Given the description of an element on the screen output the (x, y) to click on. 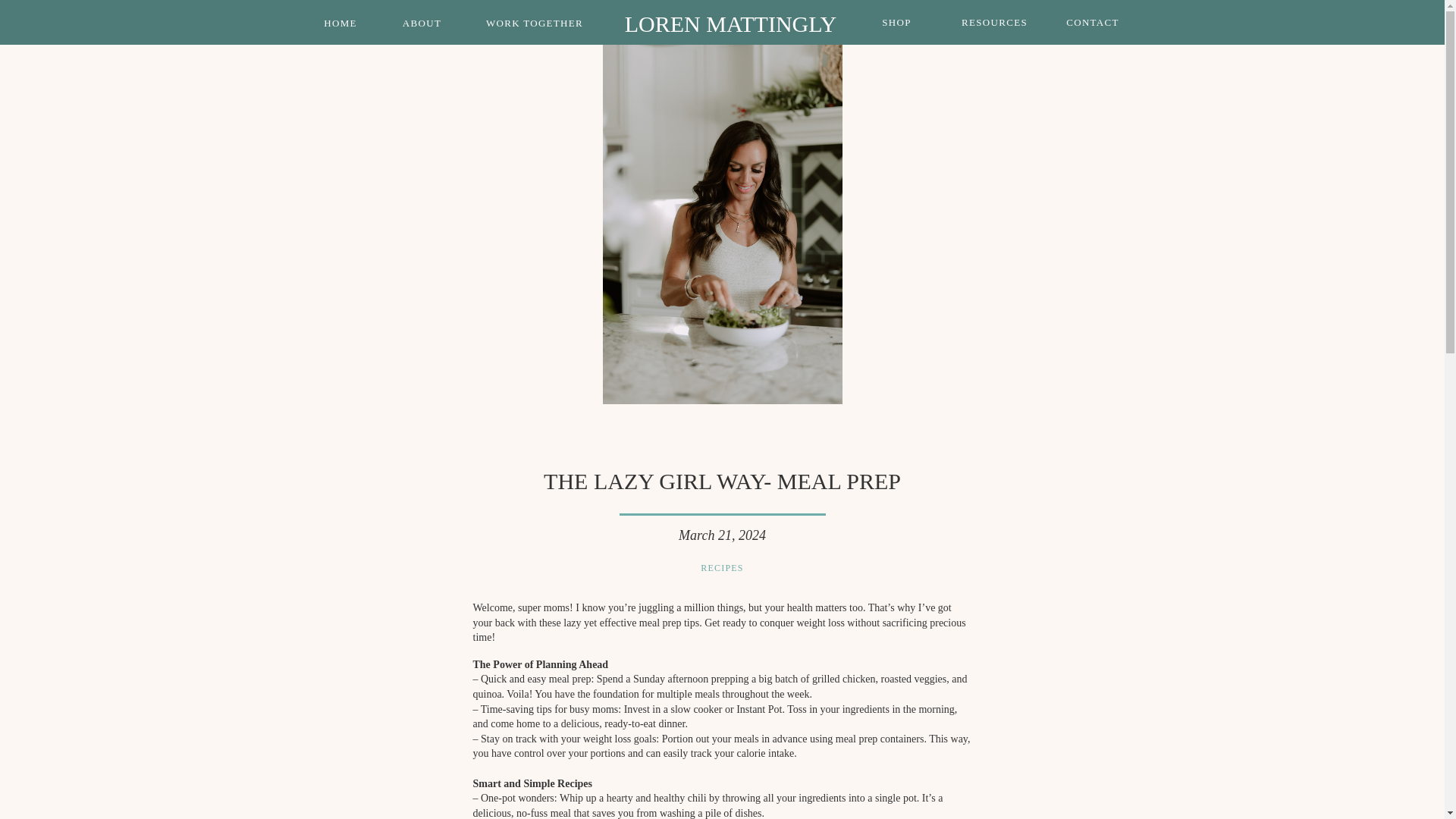
RESOURCES (995, 22)
ABOUT (421, 22)
RECIPES (721, 567)
SHOP (897, 22)
WORK TOGETHER (534, 22)
CONTACT (1093, 22)
HOME (341, 22)
